Given the description of an element on the screen output the (x, y) to click on. 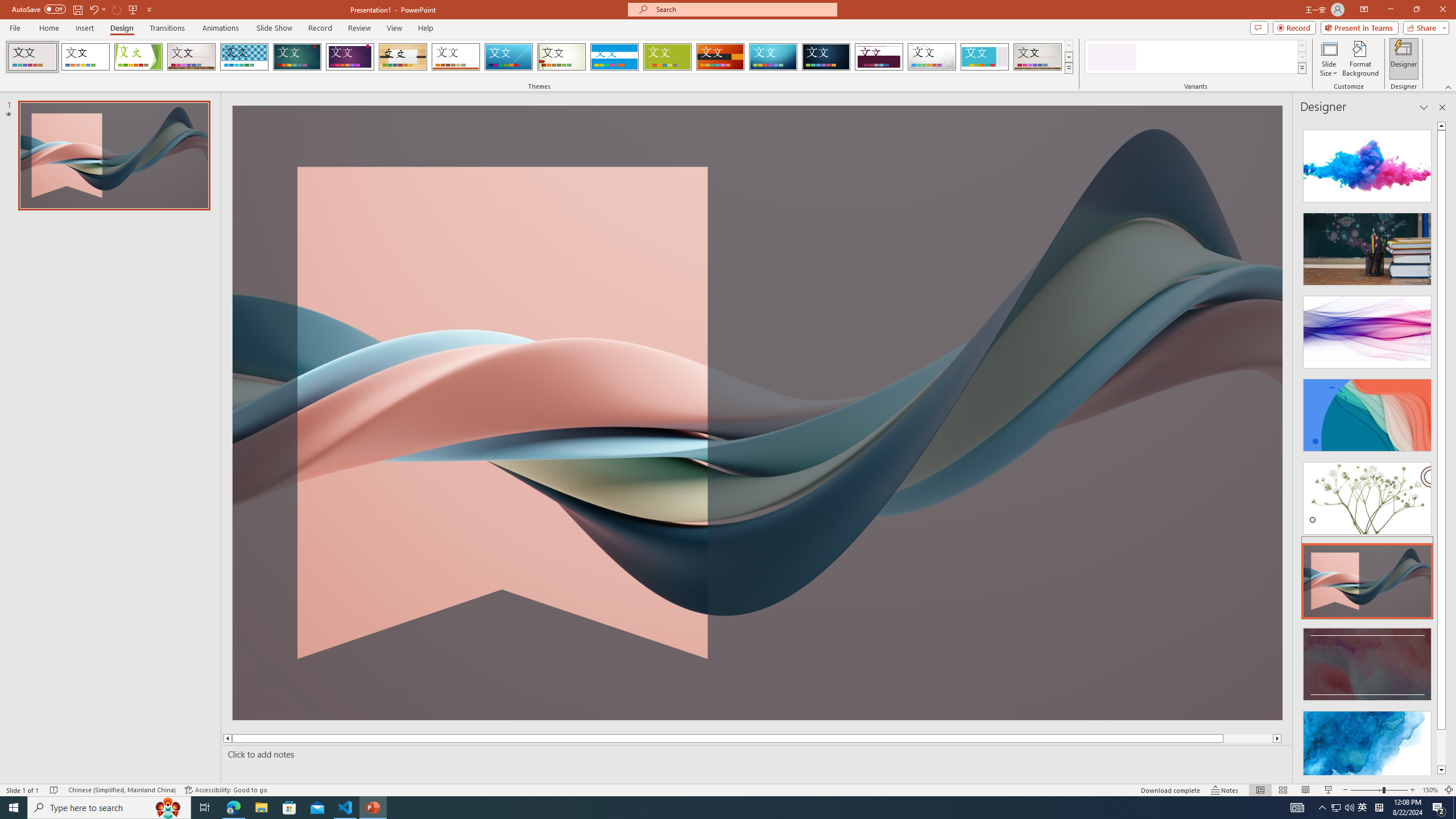
Banded (614, 56)
Wavy 3D art (757, 412)
Gallery (1037, 56)
